Given the description of an element on the screen output the (x, y) to click on. 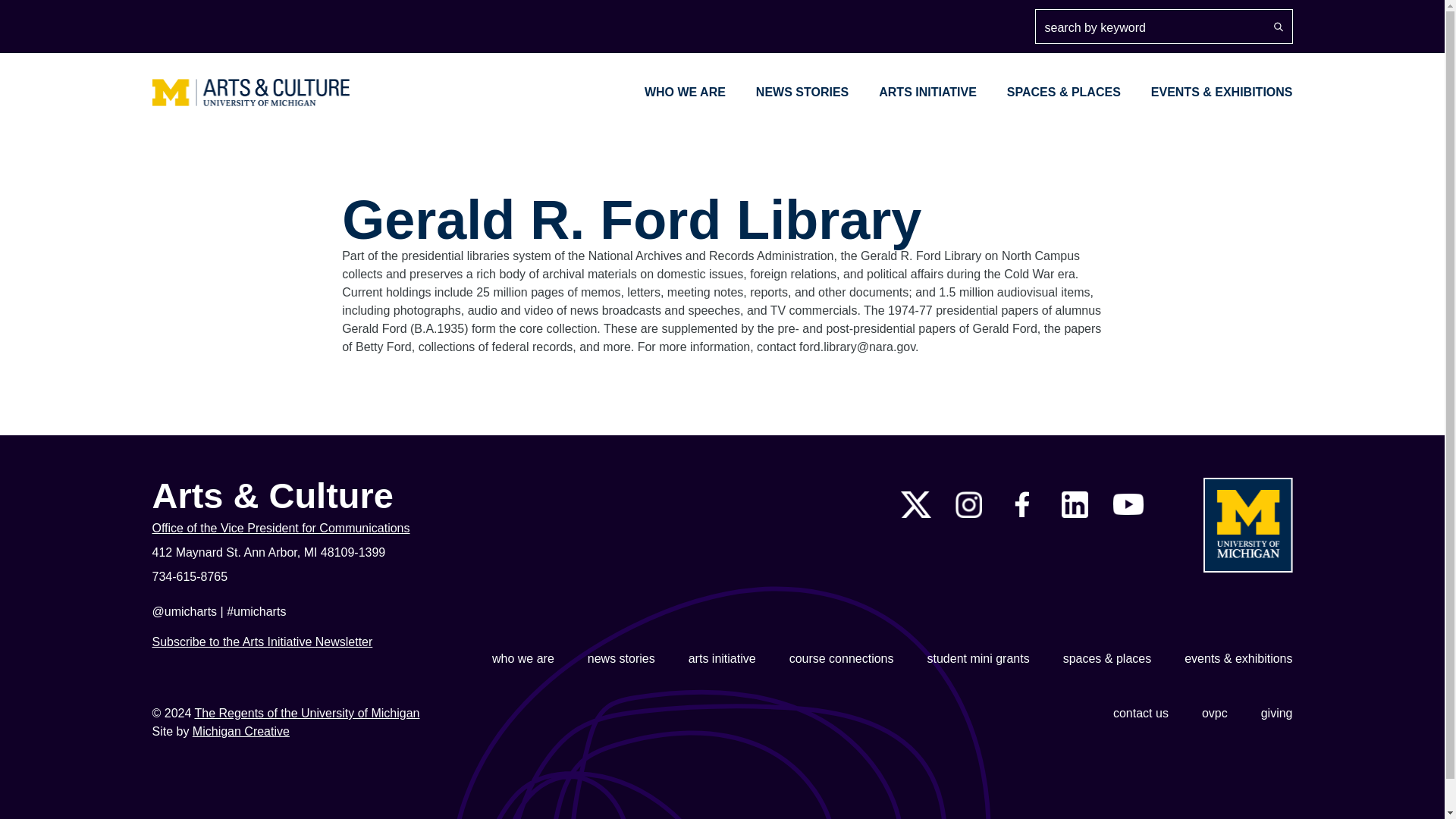
course connections (841, 659)
news stories (621, 659)
ARTS INITIATIVE (927, 91)
Office of the Vice President for Communications (341, 528)
Subscribe to the Arts Initiative Newsletter (261, 641)
arts initiative (721, 659)
Twitter (916, 504)
WHO WE ARE (685, 91)
who we are (523, 659)
YouTube (1127, 504)
Linkedin (1074, 504)
student mini grants (977, 659)
Instagram (968, 504)
NEWS STORIES (801, 91)
734-615-8765 (341, 577)
